Given the description of an element on the screen output the (x, y) to click on. 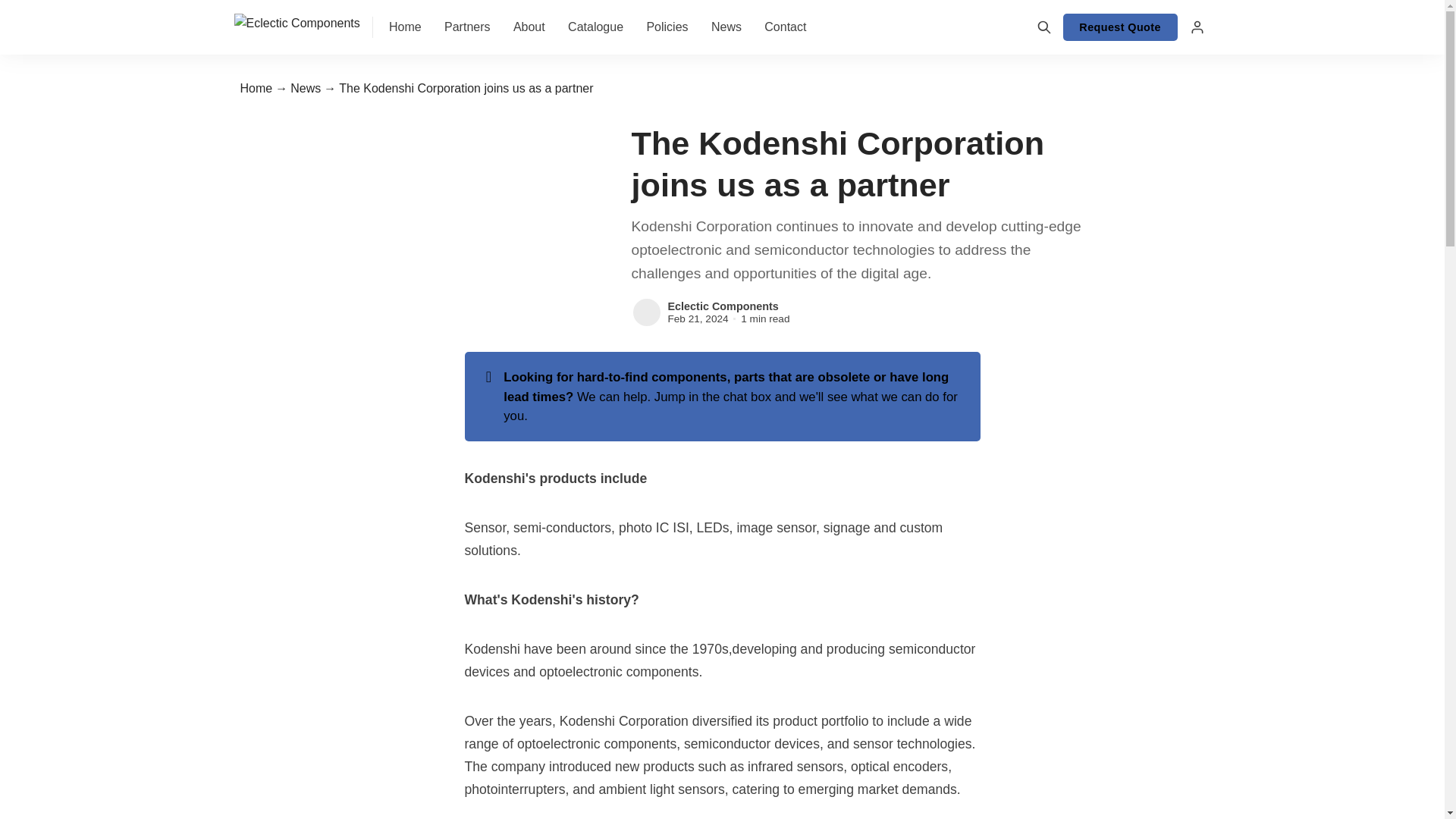
Menu (1195, 26)
Search (1044, 26)
Eclectic Components (645, 312)
Catalogue (595, 27)
Policies (667, 27)
Eclectic Components (721, 306)
Home (256, 88)
News (304, 88)
Contact (785, 27)
Request Quote (1119, 26)
Partners (467, 27)
Home (405, 27)
News (726, 27)
About (528, 27)
